Given the description of an element on the screen output the (x, y) to click on. 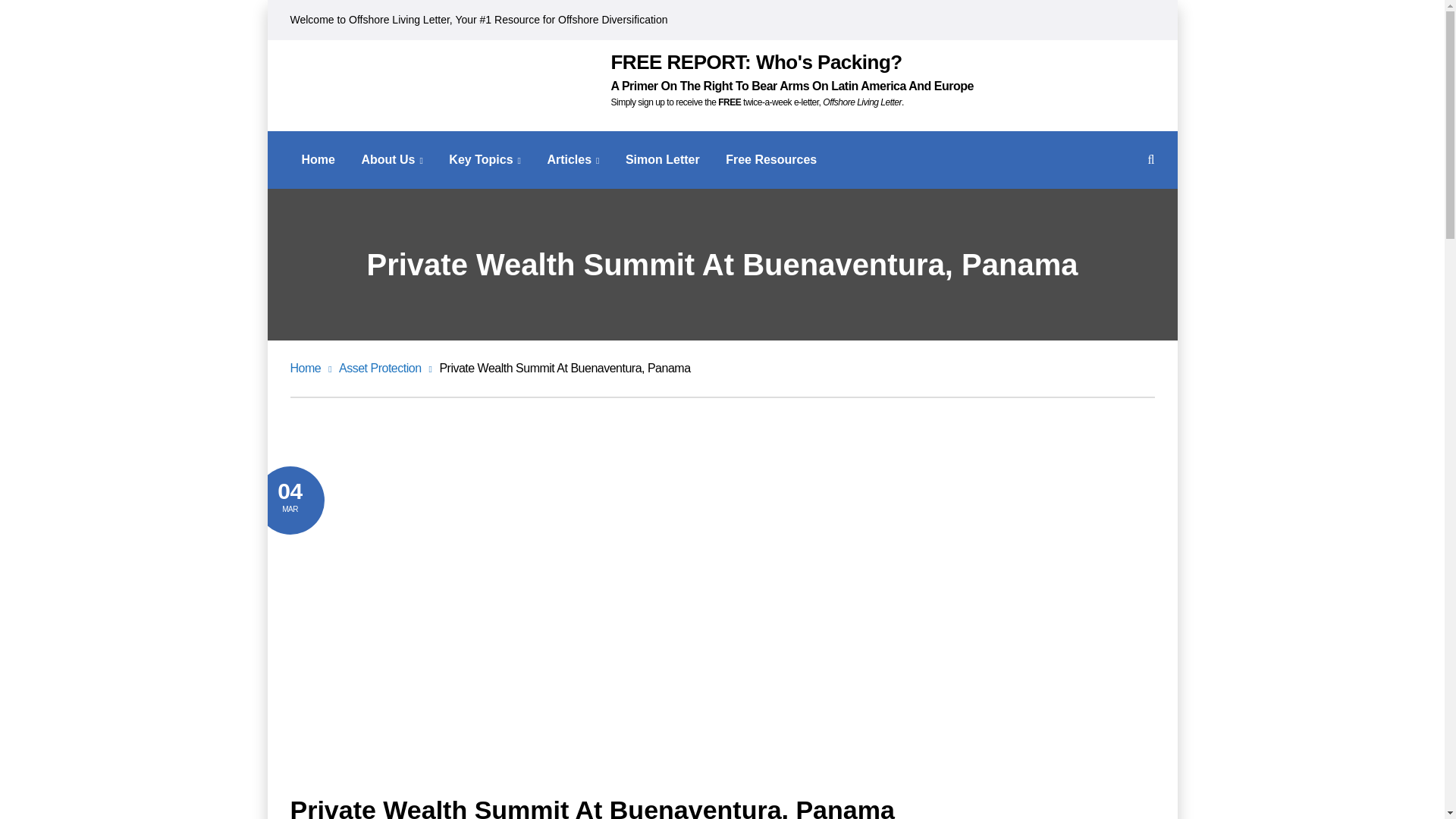
Free Resources (770, 159)
Asset Protection (384, 367)
About Us (392, 159)
Articles (572, 159)
Simon Letter (663, 159)
Home (310, 367)
Home (317, 159)
Key Topics (484, 159)
